Given the description of an element on the screen output the (x, y) to click on. 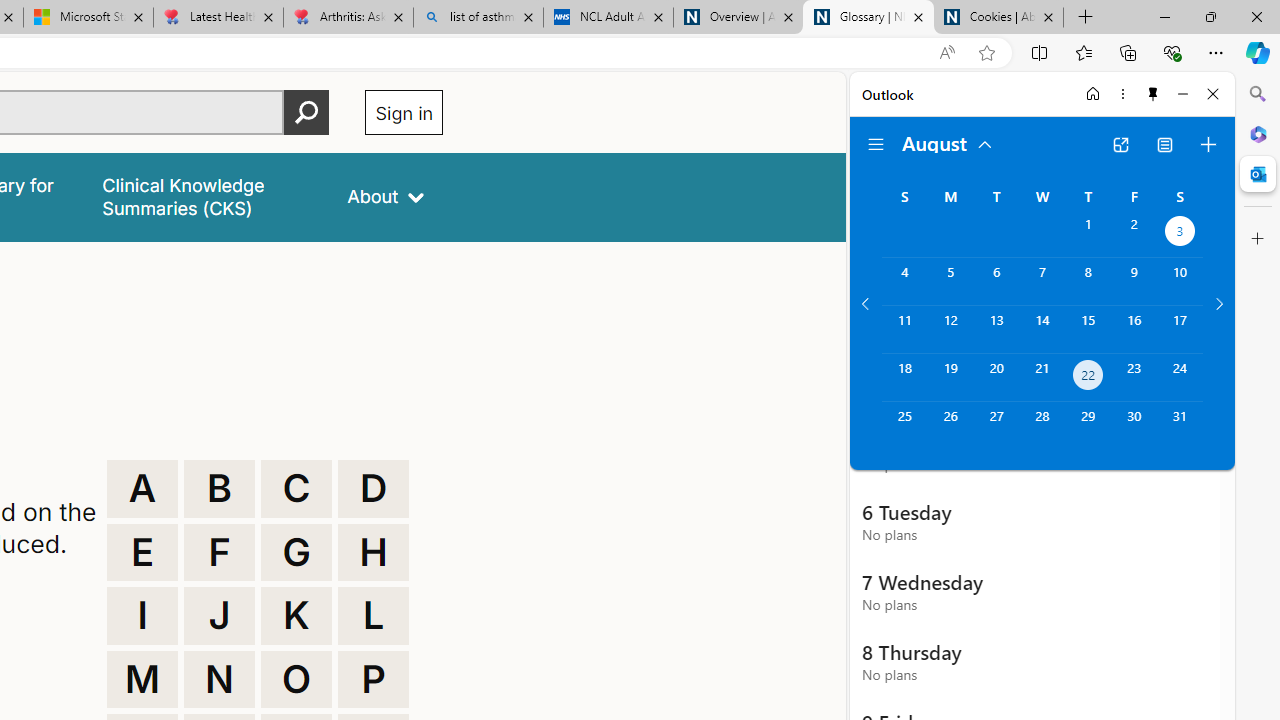
Thursday, August 15, 2024.  (1088, 329)
Tuesday, August 13, 2024.  (996, 329)
August (948, 141)
M (142, 679)
Saturday, August 24, 2024.  (1180, 377)
Wednesday, August 14, 2024.  (1042, 329)
Tuesday, August 27, 2024.  (996, 425)
Wednesday, August 7, 2024.  (1042, 281)
Friday, August 30, 2024.  (1134, 425)
